Given the description of an element on the screen output the (x, y) to click on. 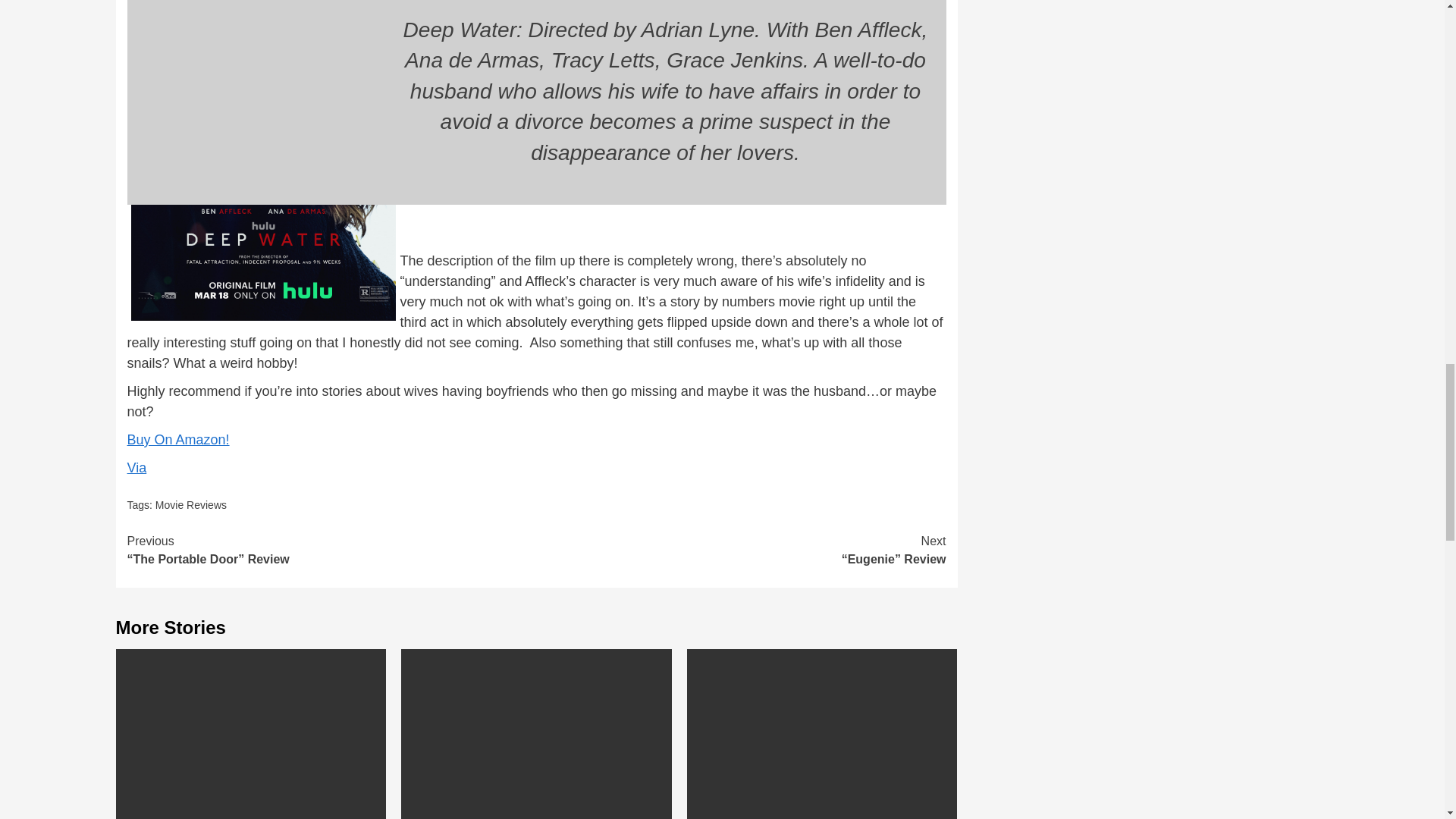
Movie Reviews (191, 504)
Via (137, 467)
Buy On Amazon! (179, 439)
